Given the description of an element on the screen output the (x, y) to click on. 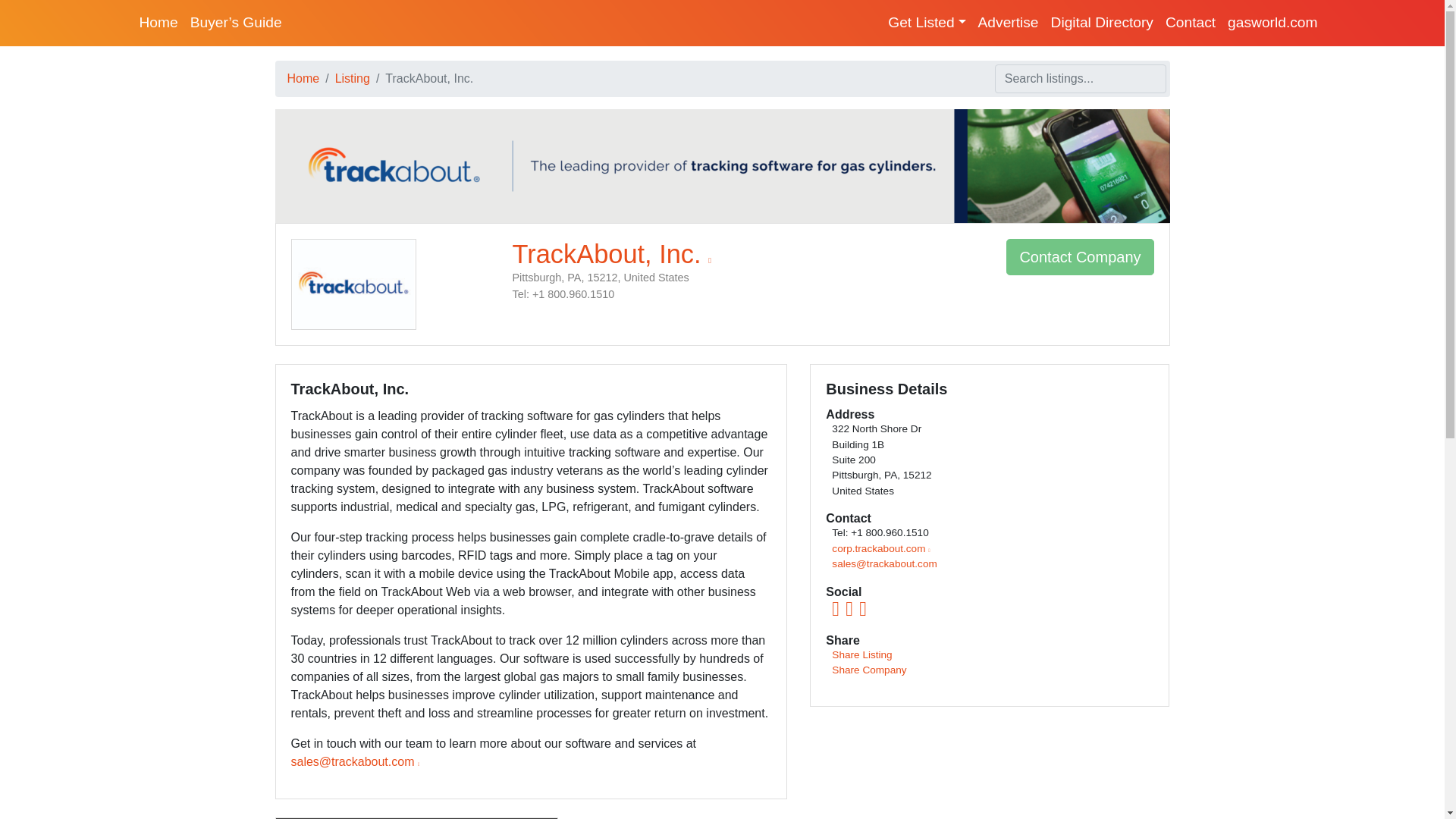
corp.trackabout.com (880, 548)
TrackAbout, Inc. on LinkedIn (849, 612)
Get Listed (926, 22)
TrackAbout, Inc. on Twitter (862, 612)
Share Company (868, 669)
Home (158, 22)
Advertise (1008, 22)
Contact Company (1079, 257)
Visit TrackAbout, Inc.'s Website (611, 253)
Home (302, 78)
Get Listed (926, 22)
TrackAbout, Inc. on Facebook (835, 612)
Digital Directory (1101, 22)
gasworld.com (1272, 22)
Contact (1189, 22)
